Given the description of an element on the screen output the (x, y) to click on. 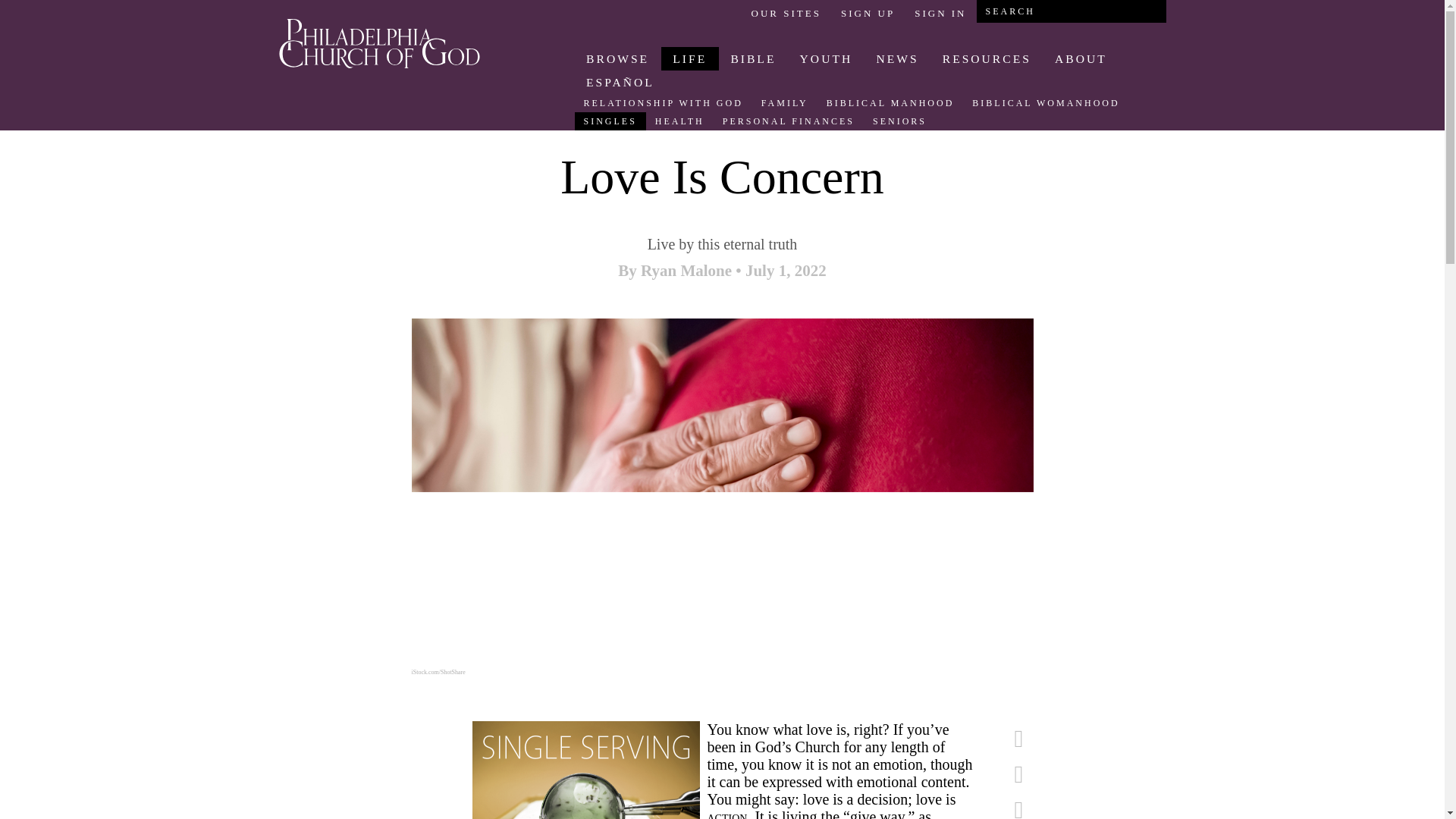
BIBLE (753, 58)
SIGN IN (939, 12)
YOUTH (825, 58)
SIGN UP (867, 12)
OUR SITES (786, 12)
BROWSE (618, 58)
ABOUT (1080, 58)
RESOURCES (986, 58)
LIFE (690, 58)
NEWS (897, 58)
